Given the description of an element on the screen output the (x, y) to click on. 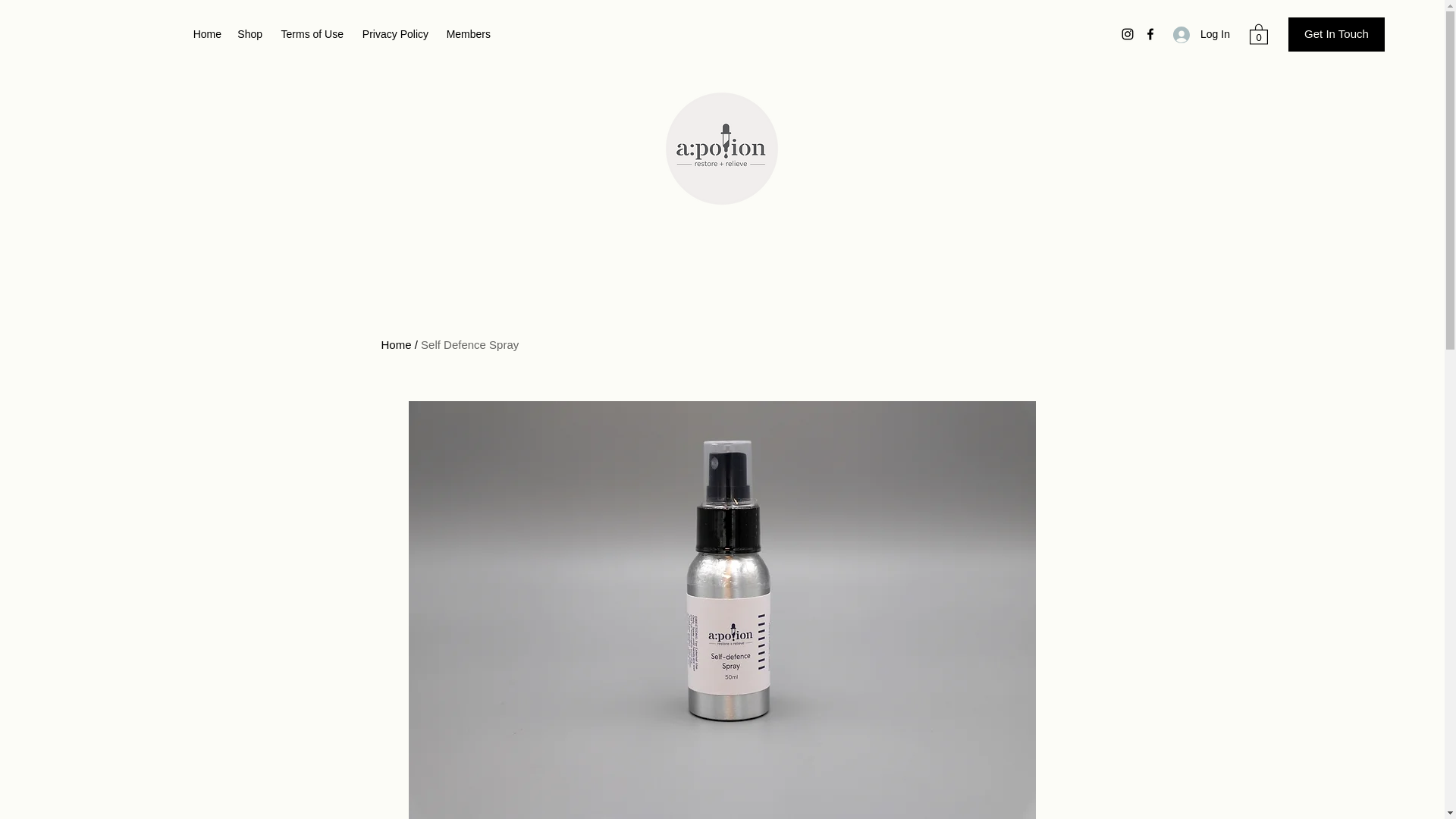
Members (466, 33)
Privacy Policy (392, 33)
Home (206, 33)
Log In (1195, 34)
Home (395, 344)
Self Defence Spray (469, 344)
Get In Touch (1336, 34)
Terms of Use (309, 33)
Shop (248, 33)
